Given the description of an element on the screen output the (x, y) to click on. 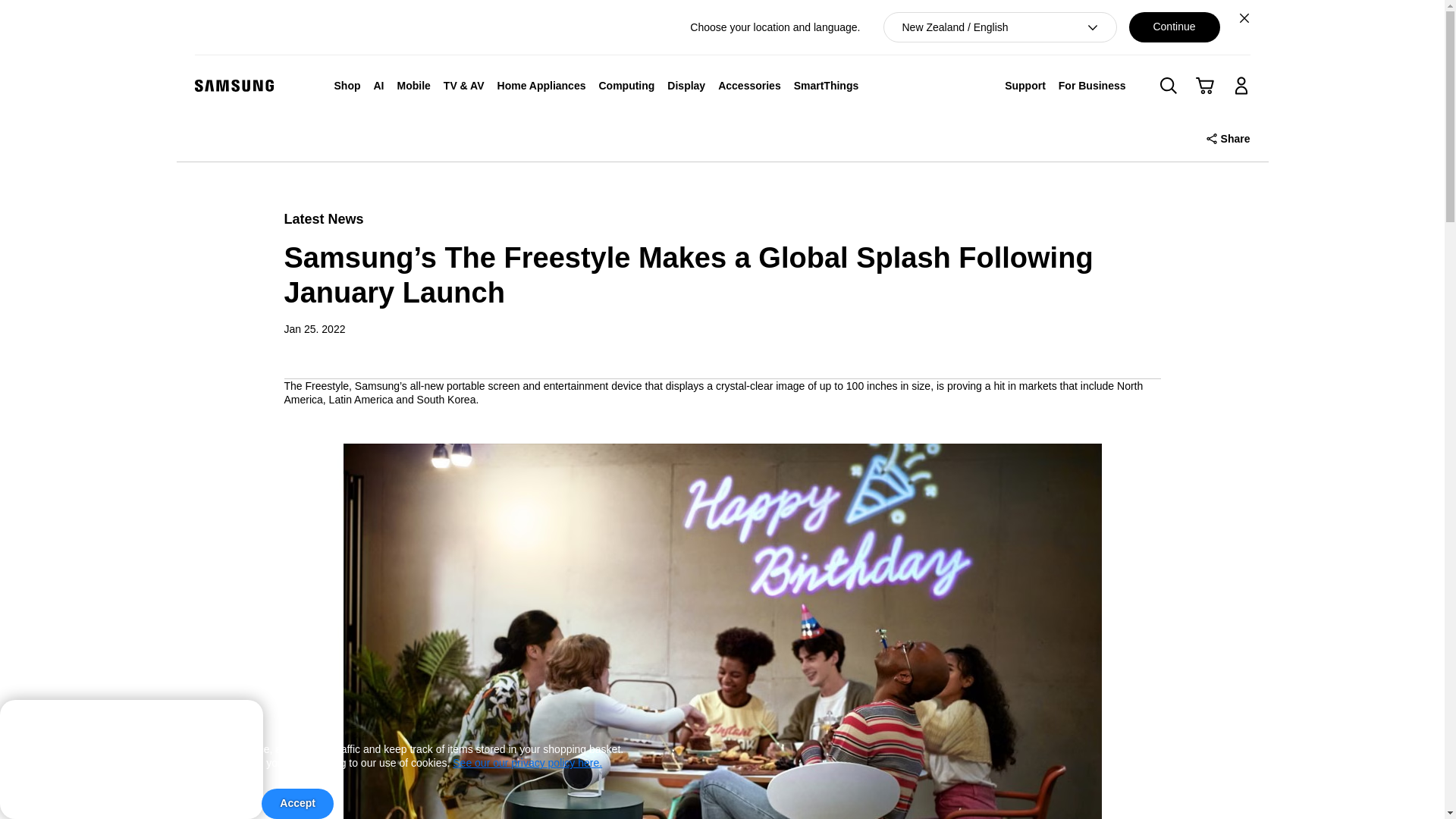
Continue (1174, 27)
See our our privacy policy here. (527, 762)
Accept (297, 803)
close (238, 721)
Close (1243, 17)
Shop (346, 85)
Accept (297, 803)
